Given the description of an element on the screen output the (x, y) to click on. 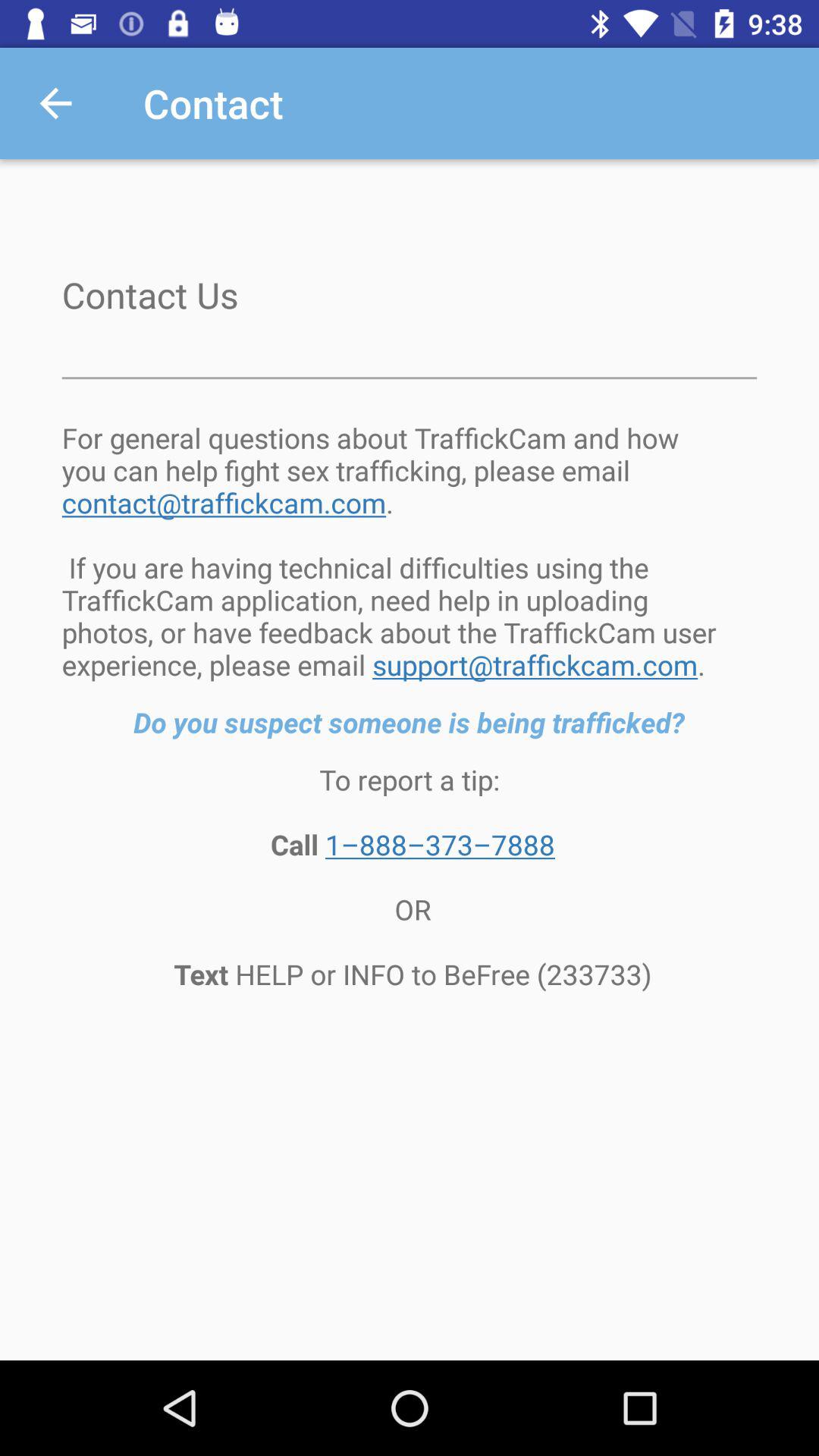
swipe until the for general questions item (409, 551)
